Given the description of an element on the screen output the (x, y) to click on. 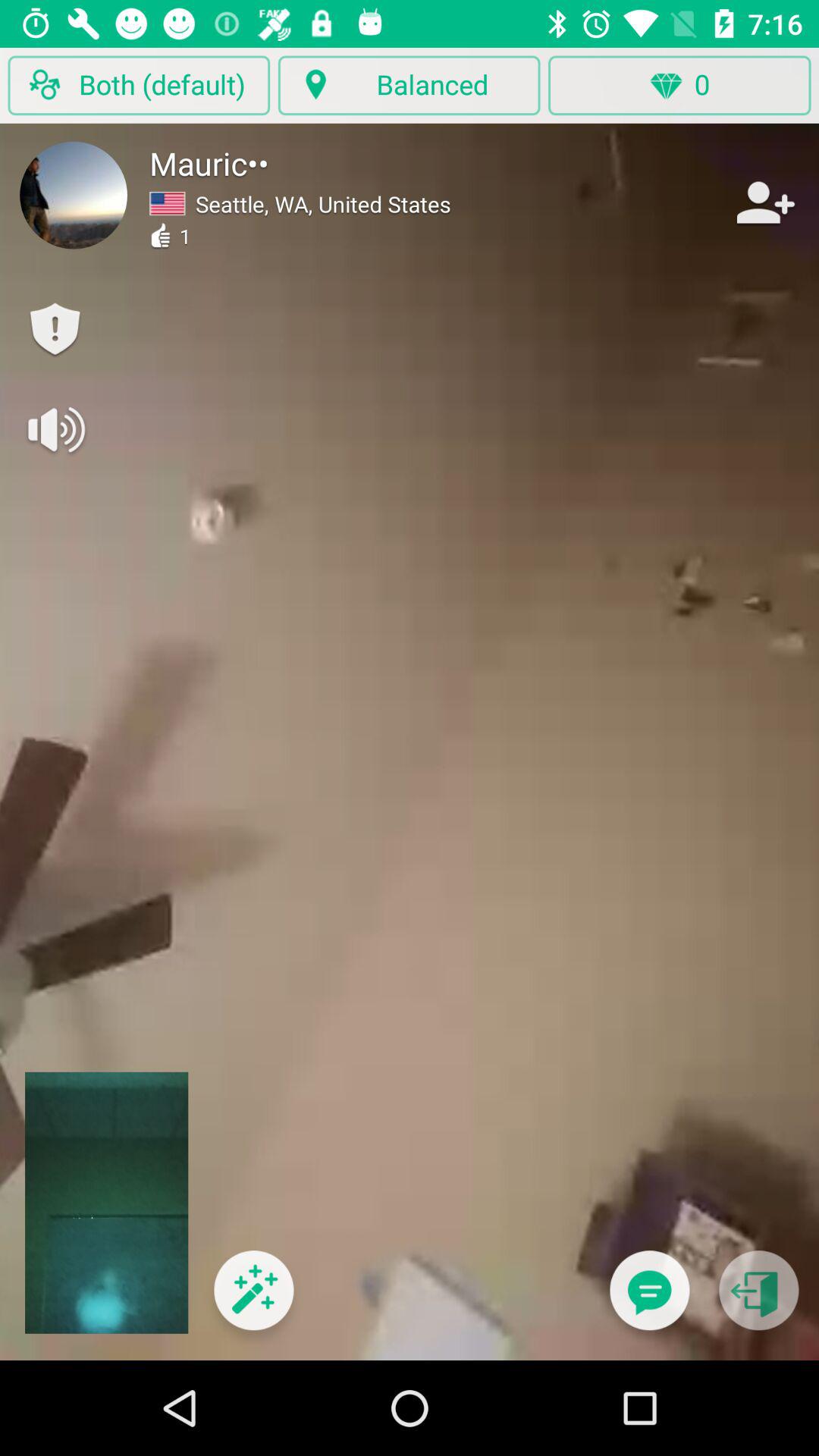
add user (763, 202)
